Given the description of an element on the screen output the (x, y) to click on. 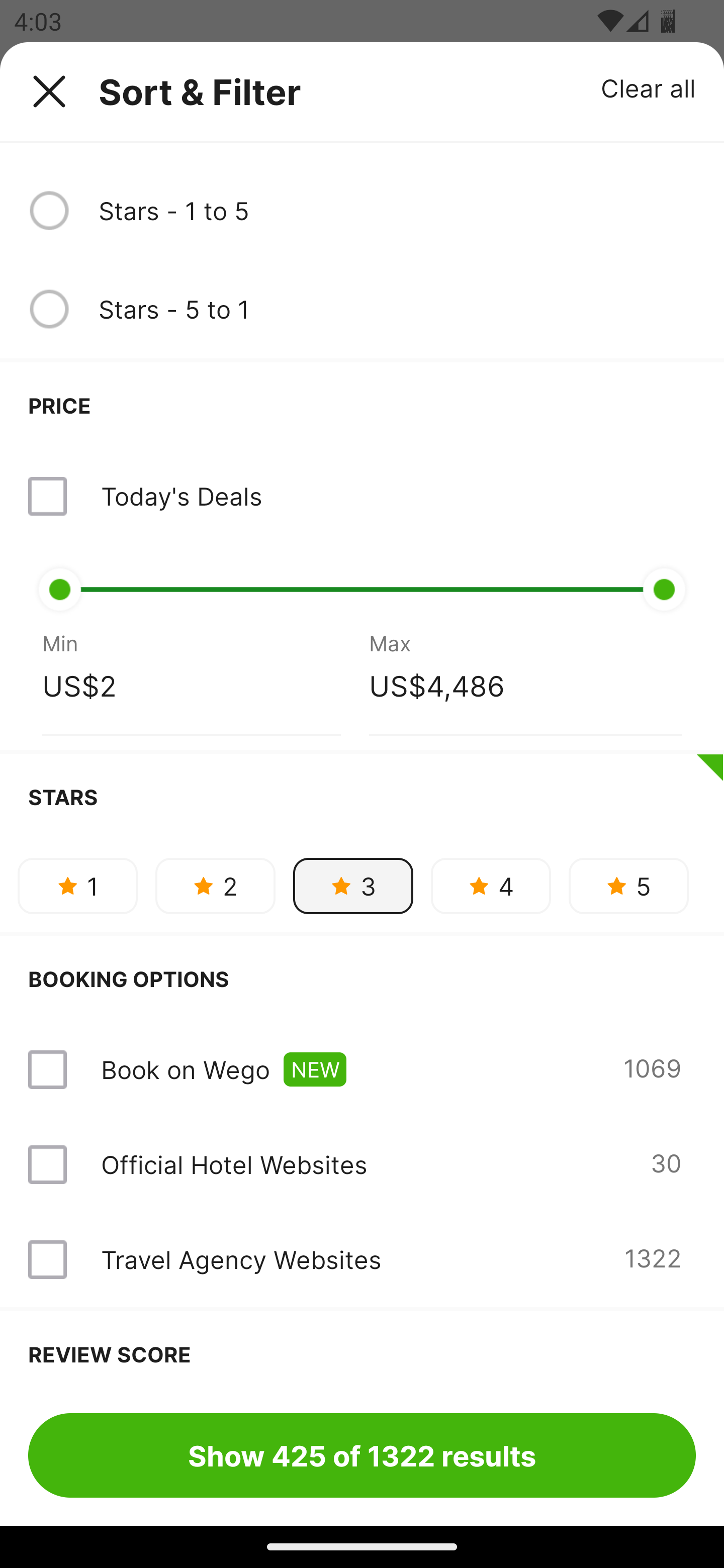
Clear all (648, 87)
Stars - 1 to 5 (396, 210)
Stars - 5 to 1 (396, 308)
Today's Deals (362, 496)
Today's Deals (181, 496)
1 (77, 885)
2 (214, 885)
3 (352, 885)
4 (491, 885)
5 (627, 885)
Book on Wego NEW 1069 (362, 1069)
Book on Wego (184, 1069)
Official Hotel Websites 30 (362, 1164)
Official Hotel Websites (233, 1164)
Travel Agency Websites 1322 (362, 1259)
Travel Agency Websites (240, 1258)
Show 425 of 1322 results (361, 1454)
